Given the description of an element on the screen output the (x, y) to click on. 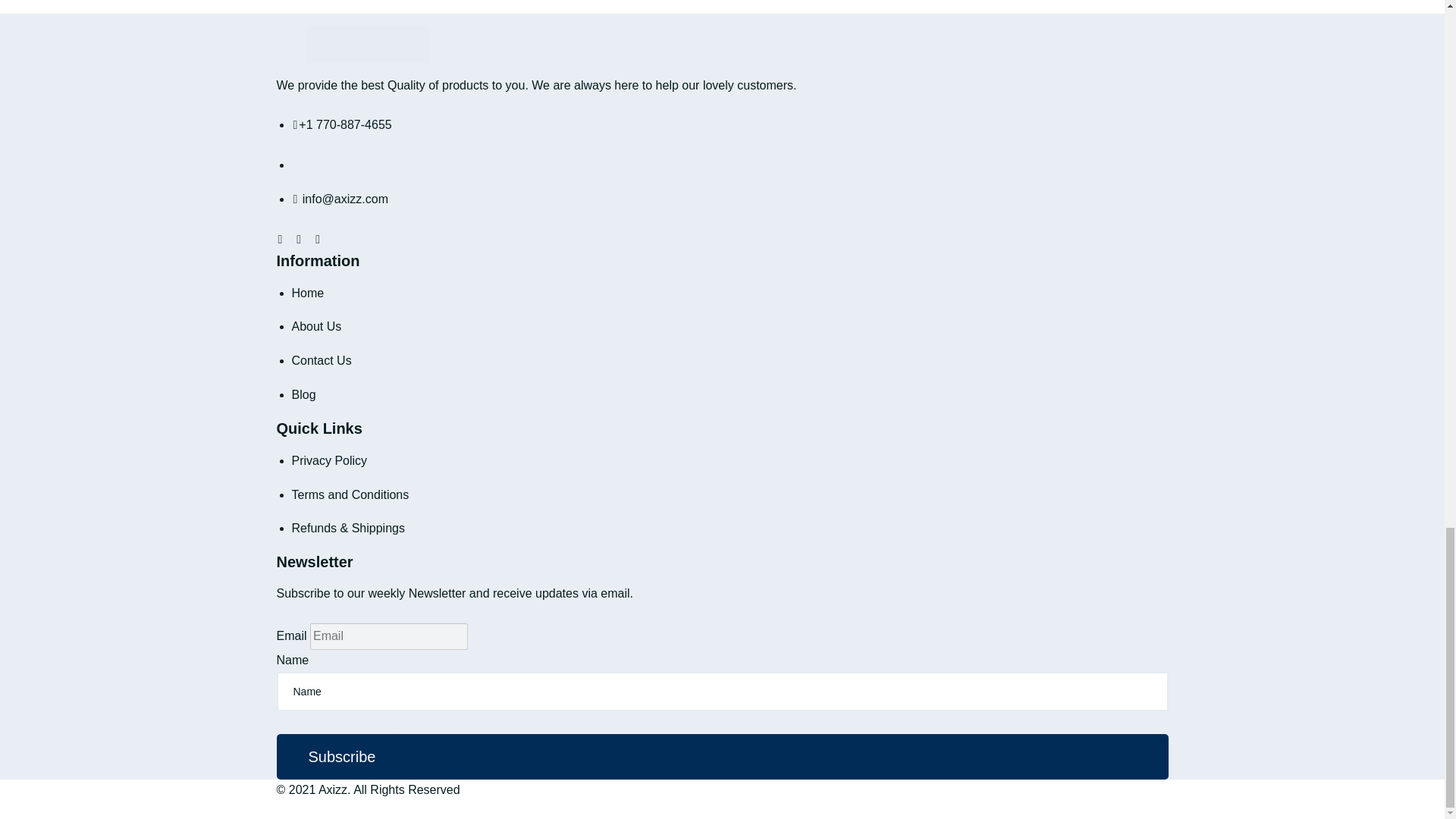
Terms and Conditions (350, 494)
Subscribe (341, 756)
About Us (315, 326)
Privacy Policy (328, 460)
Contact Us (320, 359)
Home (307, 292)
Blog (303, 394)
